Given the description of an element on the screen output the (x, y) to click on. 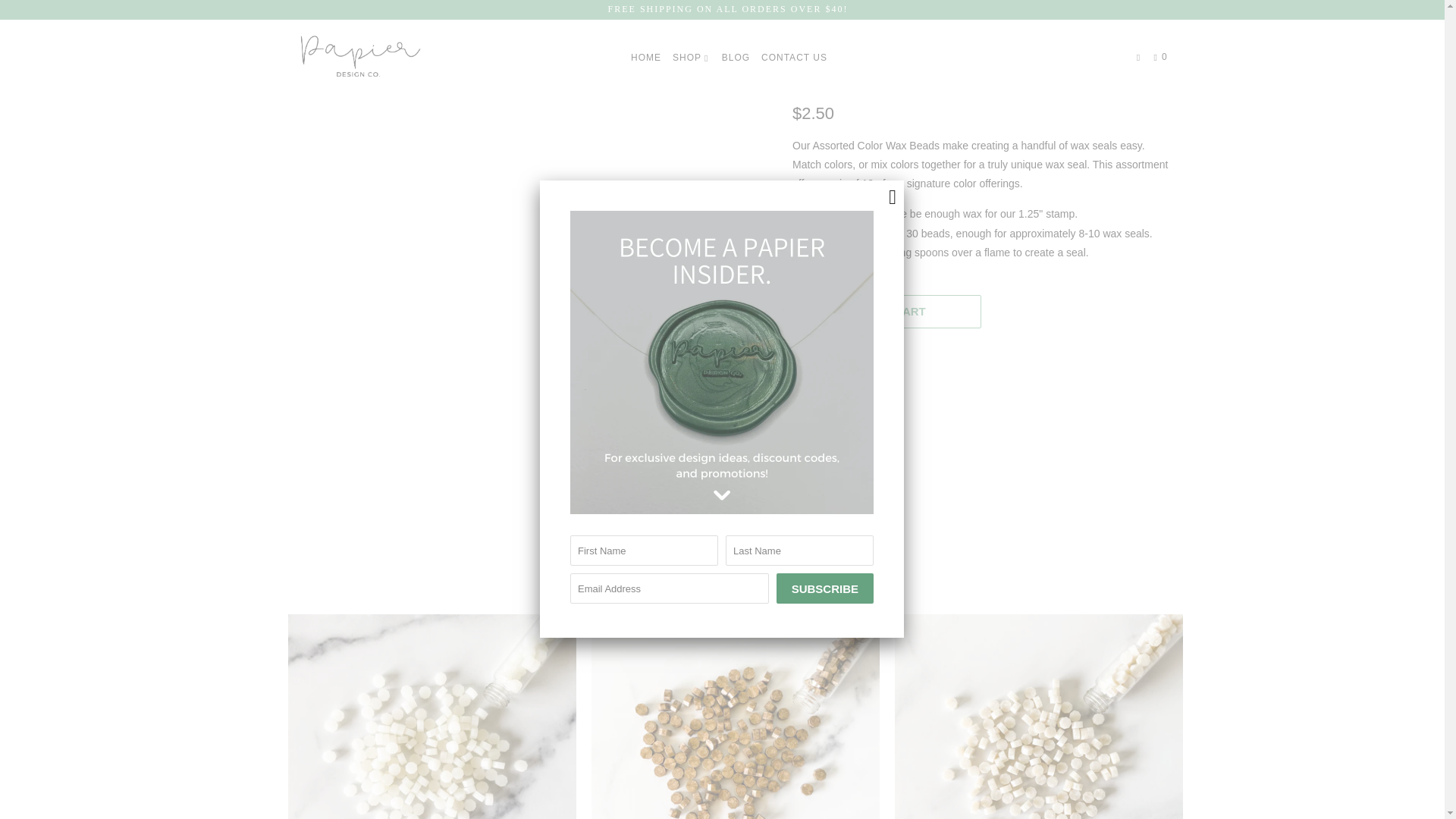
HOME (645, 57)
CONTACT US (793, 57)
Papier Design Co. (835, 77)
Assorted Color Wax Beads (528, 25)
0 (1162, 57)
Papier Design Co. (835, 77)
BLOG (735, 57)
Papier Design Co. (358, 55)
SHOP (691, 57)
Subscribe (824, 588)
